Given the description of an element on the screen output the (x, y) to click on. 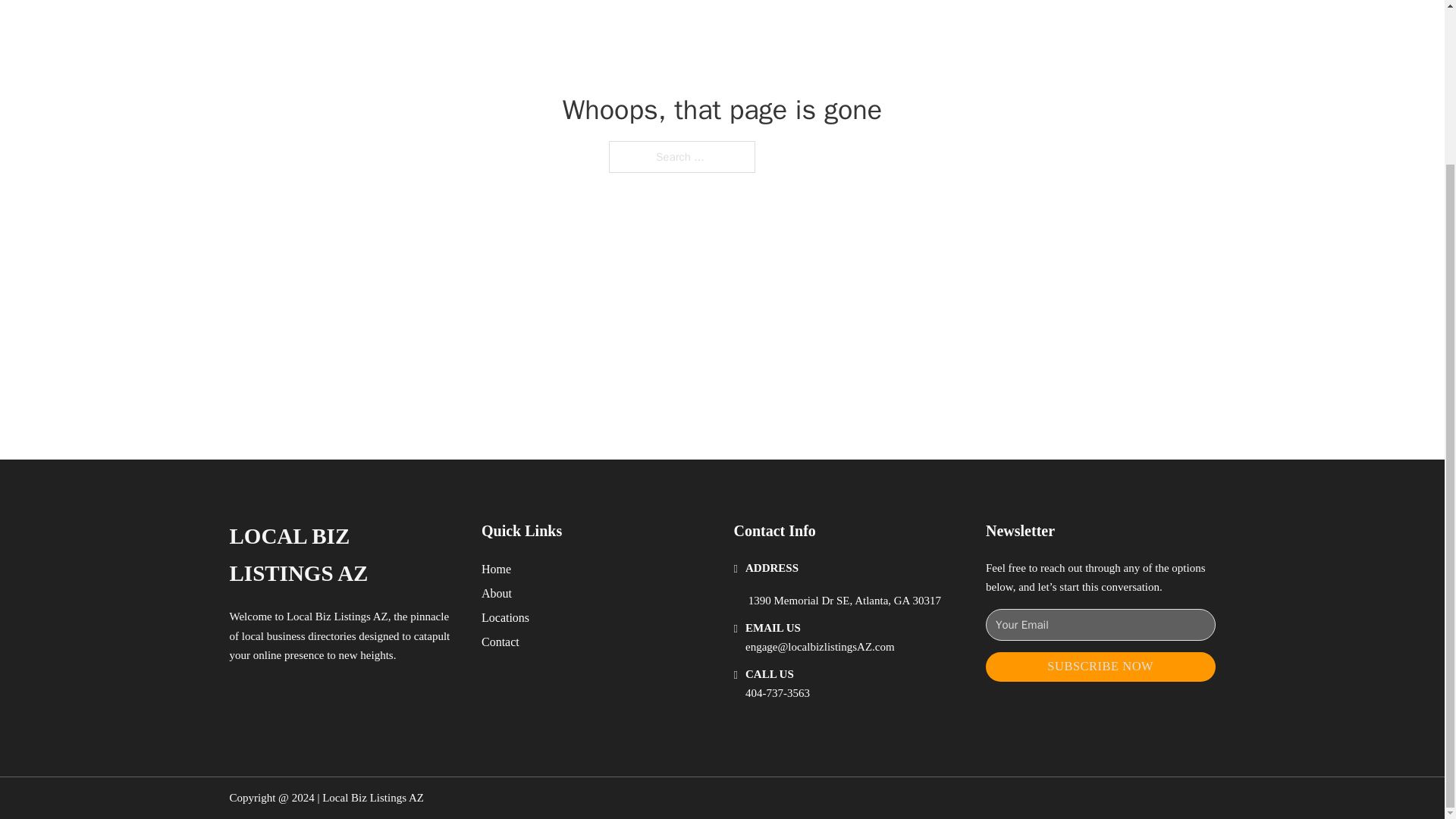
Home (496, 568)
LOCAL BIZ LISTINGS AZ (343, 554)
Locations (505, 617)
Contact (500, 641)
404-737-3563 (777, 693)
About (496, 593)
SUBSCRIBE NOW (1100, 666)
